Given the description of an element on the screen output the (x, y) to click on. 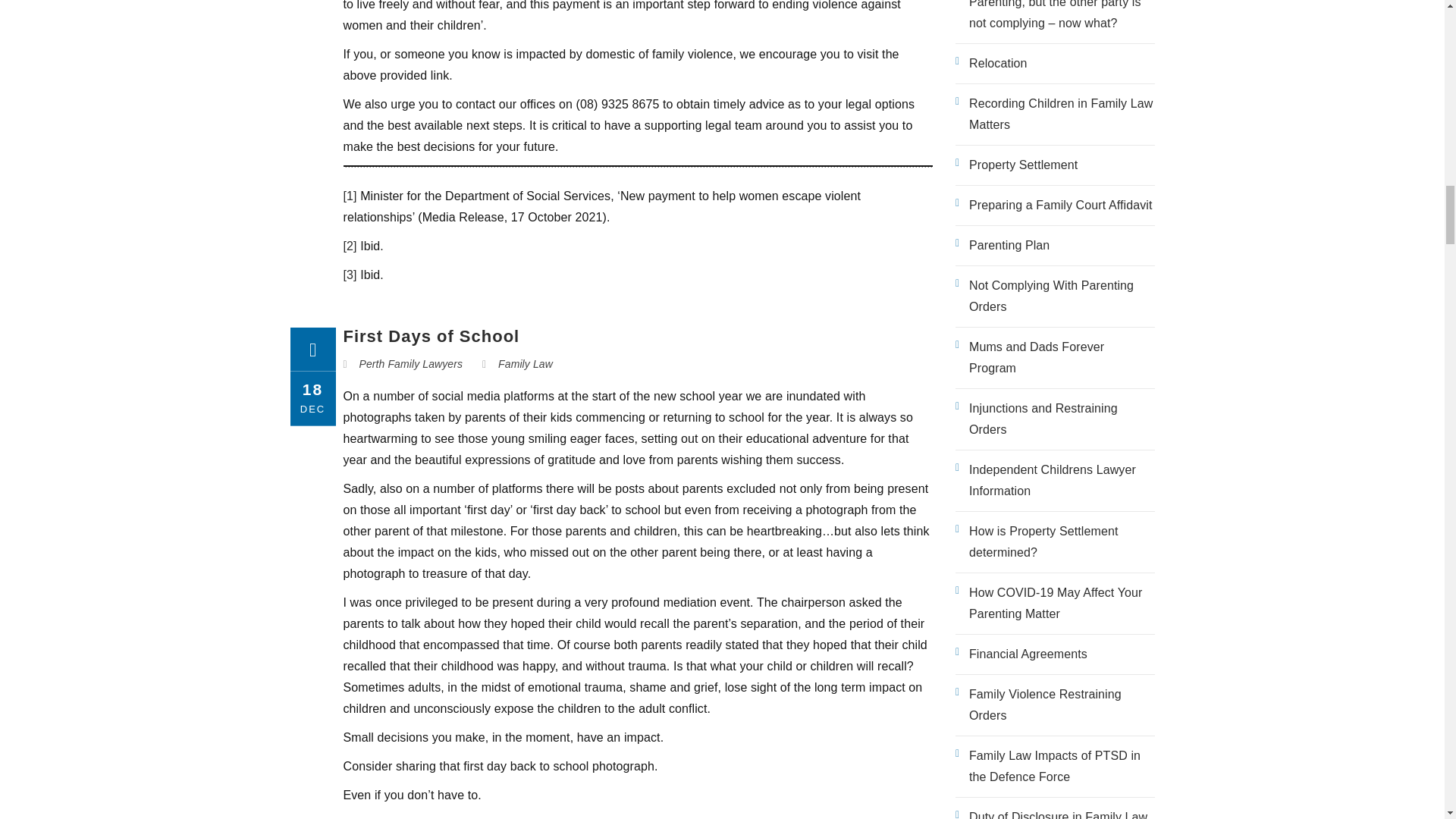
View all posts by Perth Family Lawyers (411, 363)
